Given the description of an element on the screen output the (x, y) to click on. 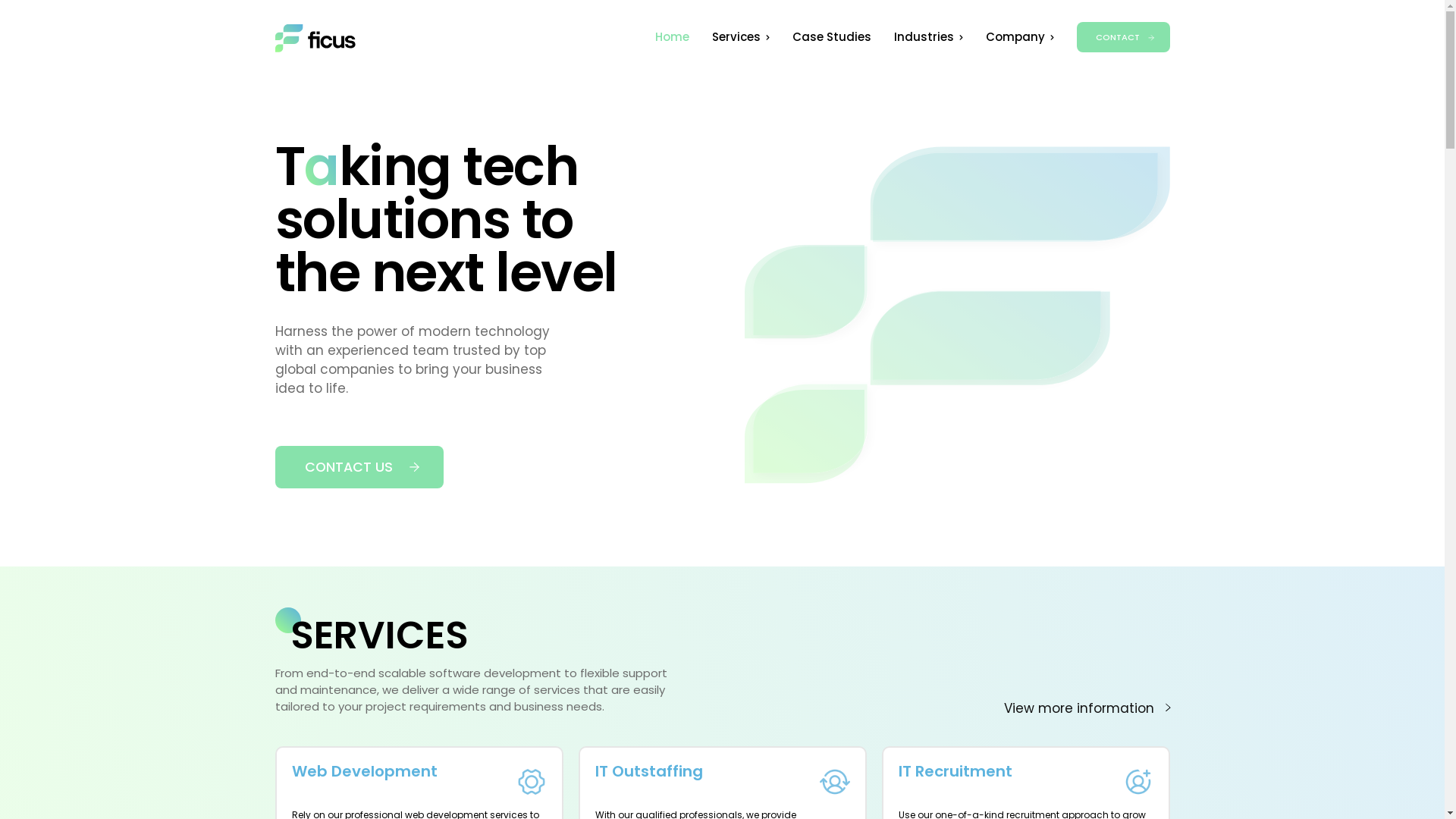
Industries Element type: text (927, 36)
CONTACT US Element type: text (358, 466)
Services Element type: text (739, 36)
IT Recruitment Element type: text (954, 770)
Case Studies Element type: text (830, 36)
Web Development Element type: text (363, 770)
IT Outstaffing Element type: text (648, 770)
CONTACT Element type: text (1123, 36)
Company Element type: text (1019, 36)
View more information Element type: text (1087, 708)
Home Element type: text (672, 36)
